Given the description of an element on the screen output the (x, y) to click on. 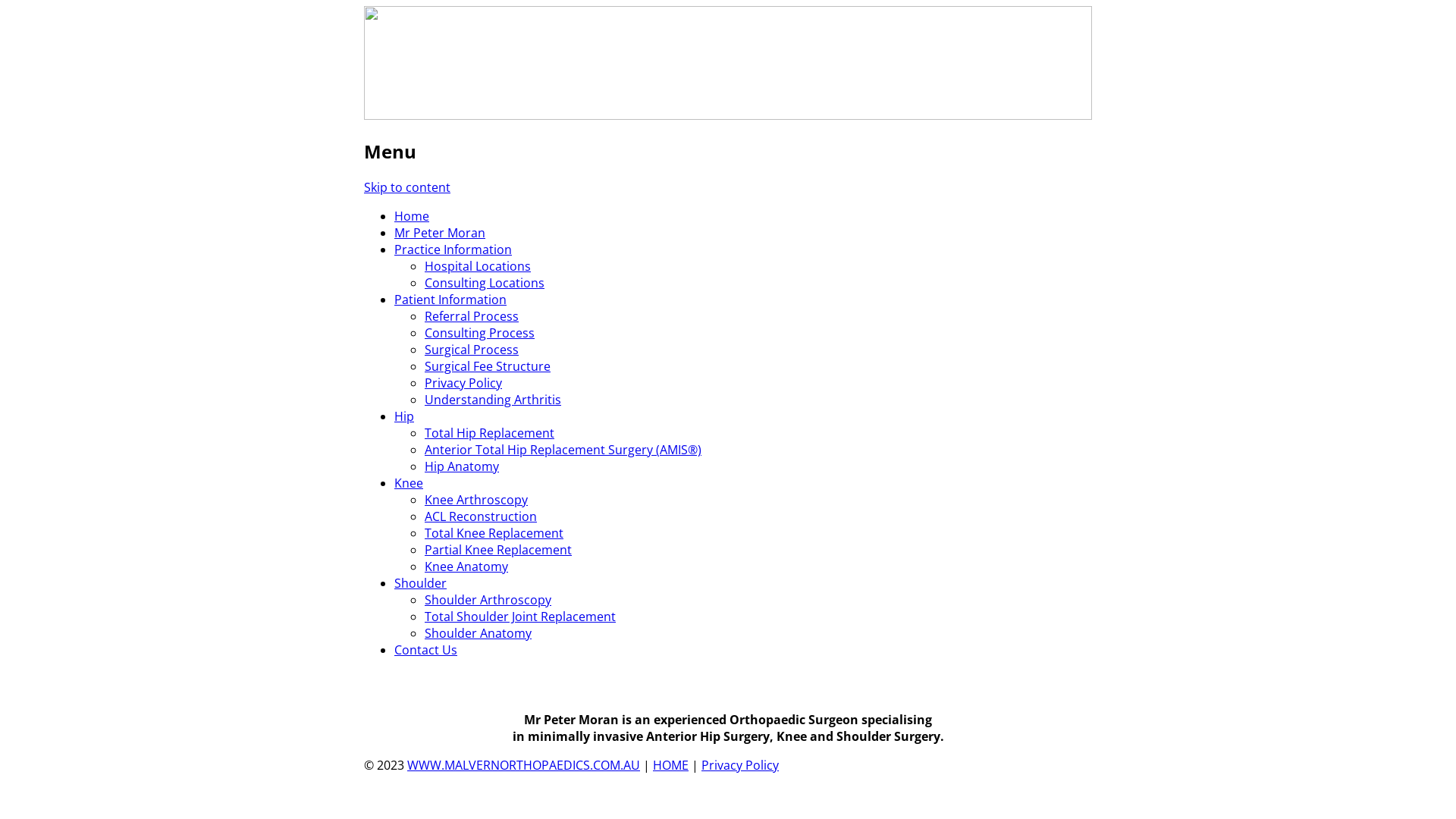
Partial Knee Replacement Element type: text (497, 549)
Shoulder Arthroscopy Element type: text (487, 599)
Privacy Policy Element type: text (463, 382)
Hospital Locations Element type: text (477, 265)
ACL Reconstruction Element type: text (480, 516)
Knee Arthroscopy Element type: text (475, 499)
Referral Process Element type: text (471, 315)
Hip Anatomy Element type: text (461, 466)
Hip Element type: text (404, 415)
Total Hip Replacement Element type: text (489, 432)
Shoulder Element type: text (420, 582)
Surgical Process Element type: text (471, 349)
Surgical Fee Structure Element type: text (487, 365)
Home Element type: text (411, 215)
Contact Us Element type: text (425, 649)
Consulting Locations Element type: text (484, 282)
Practice Information Element type: text (452, 249)
WWW.MALVERNORTHOPAEDICS.COM.AU Element type: text (523, 764)
Mr Peter Moran Element type: text (439, 232)
Total Shoulder Joint Replacement Element type: text (519, 616)
Consulting Process Element type: text (479, 332)
Mr Peter Moran (MBBS FRACS, FAOrthA) Element type: text (605, 155)
Knee Element type: text (408, 482)
HOME Element type: text (670, 764)
Skip to content Element type: text (407, 186)
Privacy Policy Element type: text (739, 764)
Knee Anatomy Element type: text (466, 566)
Patient Information Element type: text (450, 299)
Understanding Arthritis Element type: text (492, 399)
Shoulder Anatomy Element type: text (477, 632)
Total Knee Replacement Element type: text (493, 532)
